Given the description of an element on the screen output the (x, y) to click on. 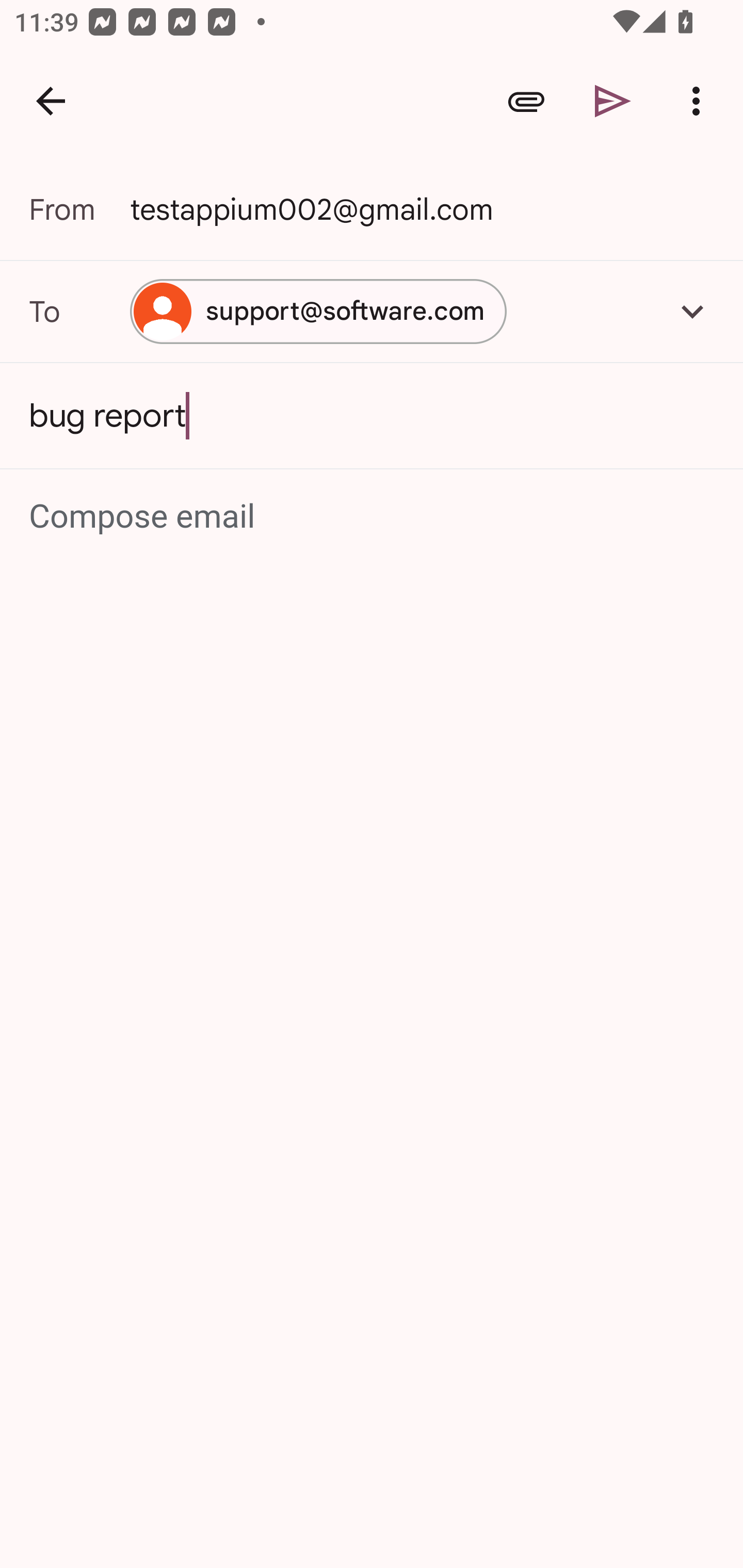
Navigate up (50, 101)
Attach file (525, 101)
Send (612, 101)
More options (699, 101)
From (79, 209)
Add Cc/Bcc (692, 311)
bug report (371, 415)
Compose email (372, 517)
